Given the description of an element on the screen output the (x, y) to click on. 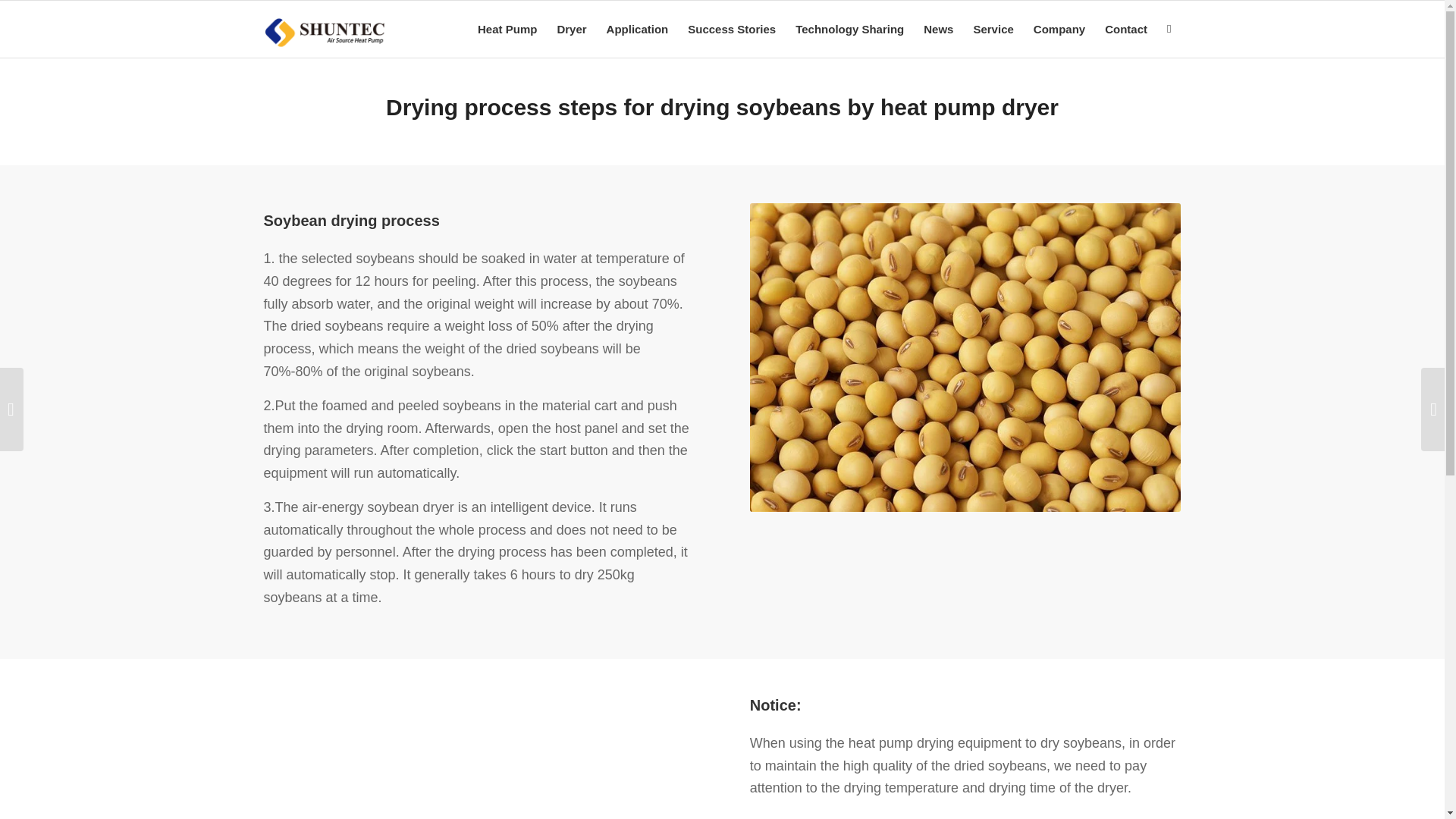
drying-soybeans-by-heat-pump-dryer (479, 757)
Technology Sharing (850, 28)
Heat Pump (507, 28)
Success Stories (732, 28)
Application (637, 28)
drying-of-Soybean-process (964, 357)
